Given the description of an element on the screen output the (x, y) to click on. 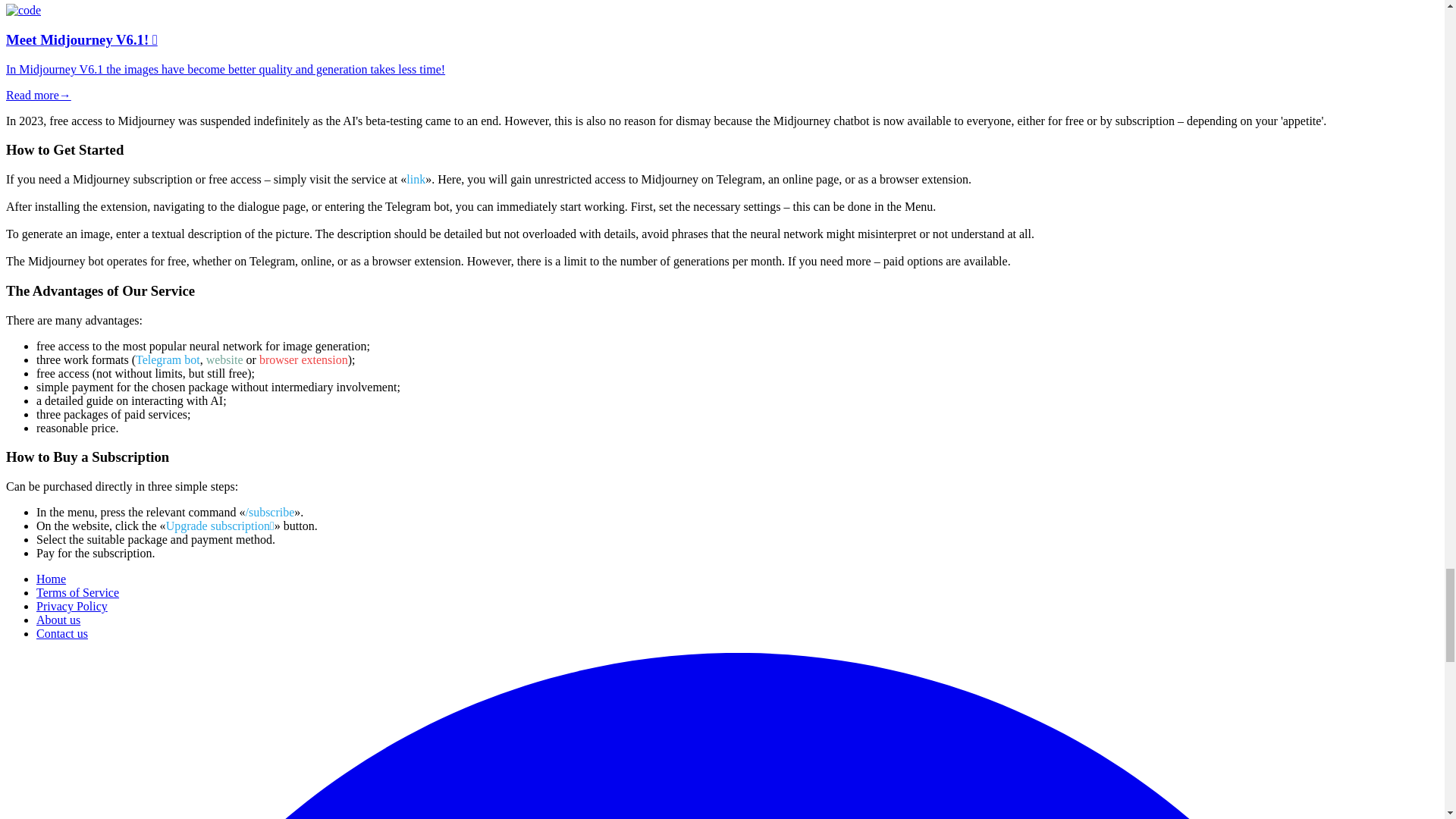
Terms of Service (77, 592)
link (415, 178)
Home (50, 578)
browser extension (303, 359)
website (224, 359)
Telegram bot (167, 359)
Privacy Policy (71, 605)
